Given the description of an element on the screen output the (x, y) to click on. 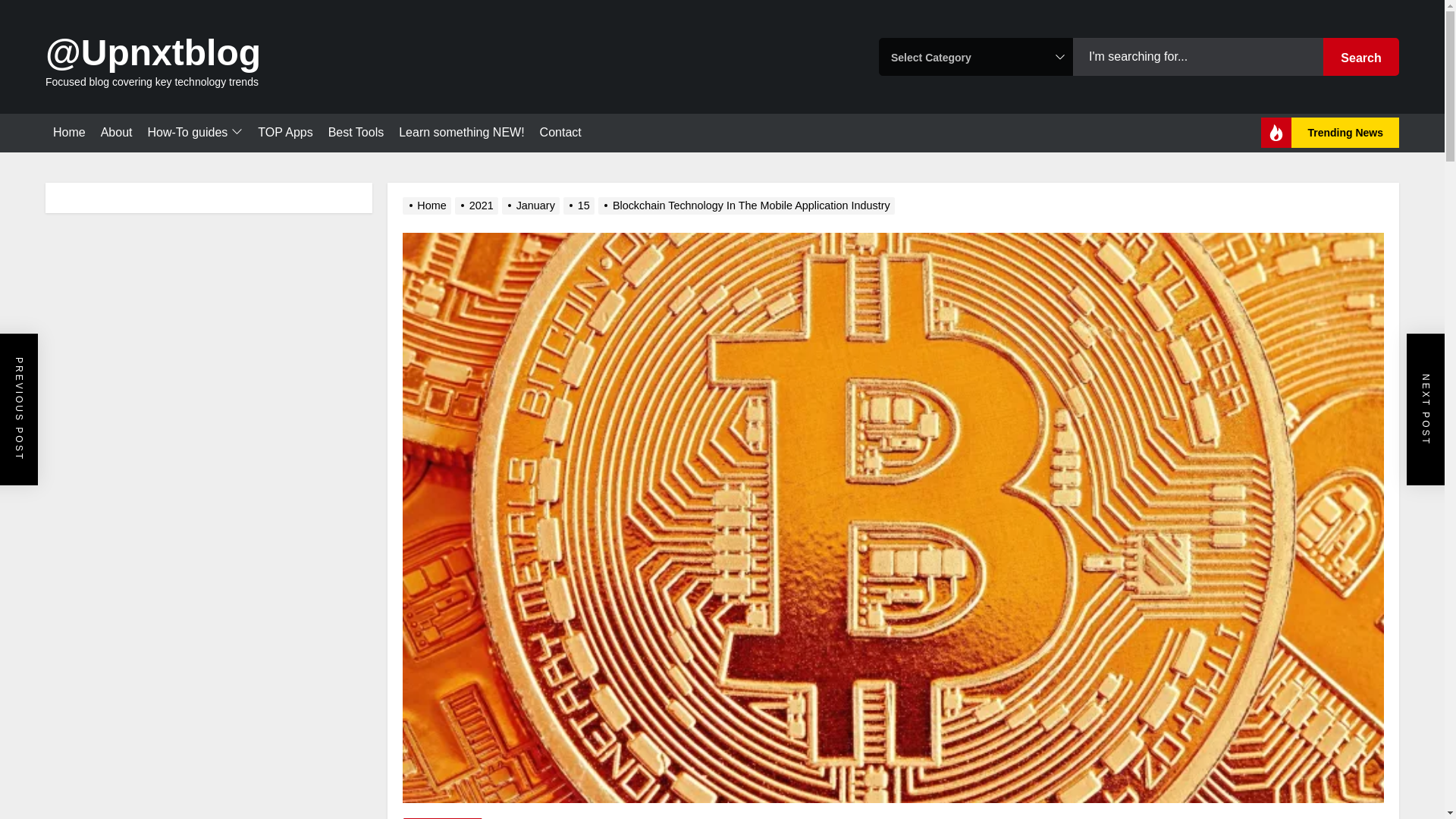
How-To guides (195, 132)
Contact (560, 132)
About (116, 132)
Learn something NEW! (461, 132)
Best Tools (356, 132)
Trending News (1329, 132)
Home (68, 132)
Search (1361, 56)
TOP Apps (285, 132)
